Given the description of an element on the screen output the (x, y) to click on. 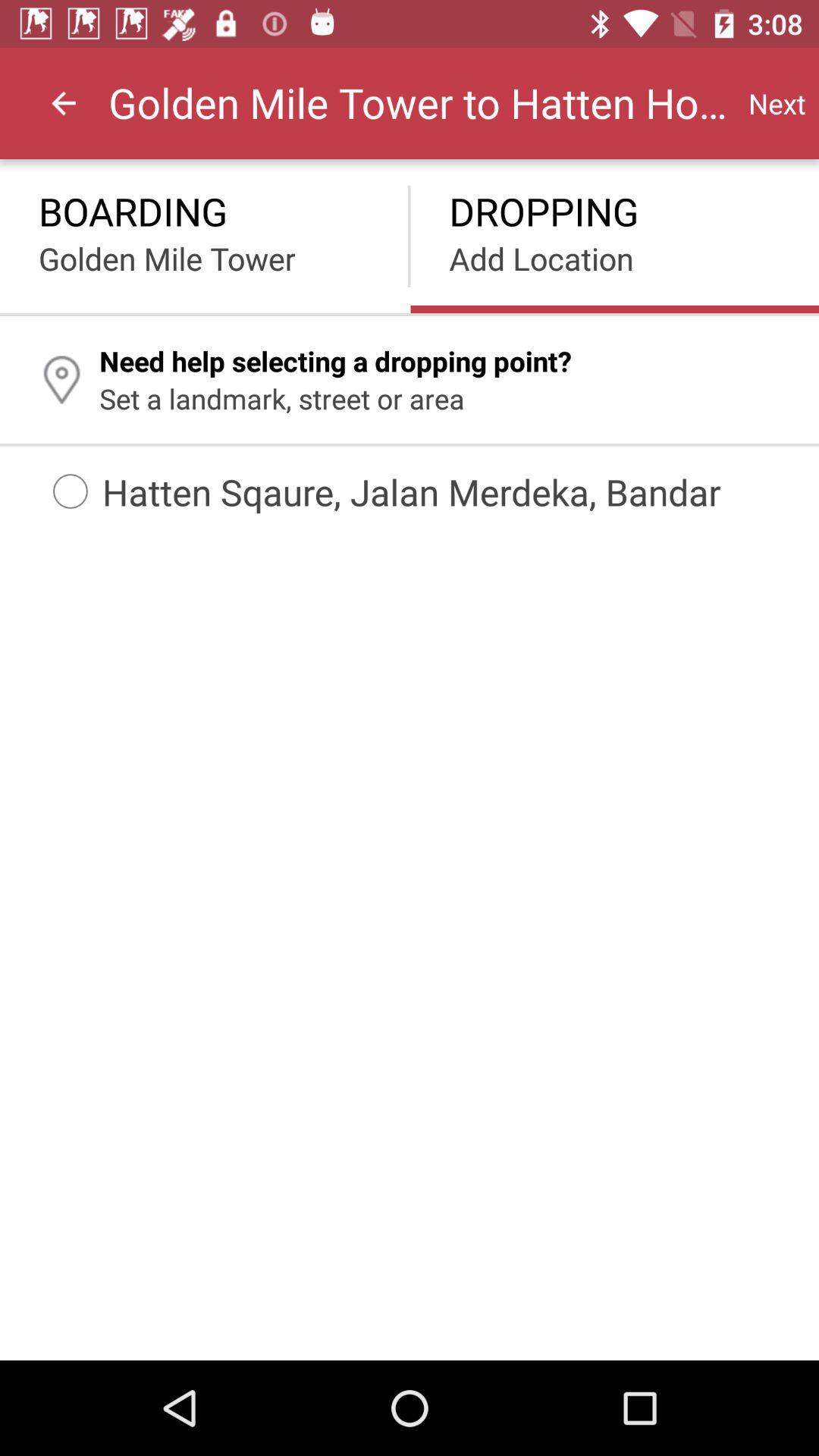
tap icon to the right of golden mile tower icon (777, 103)
